Given the description of an element on the screen output the (x, y) to click on. 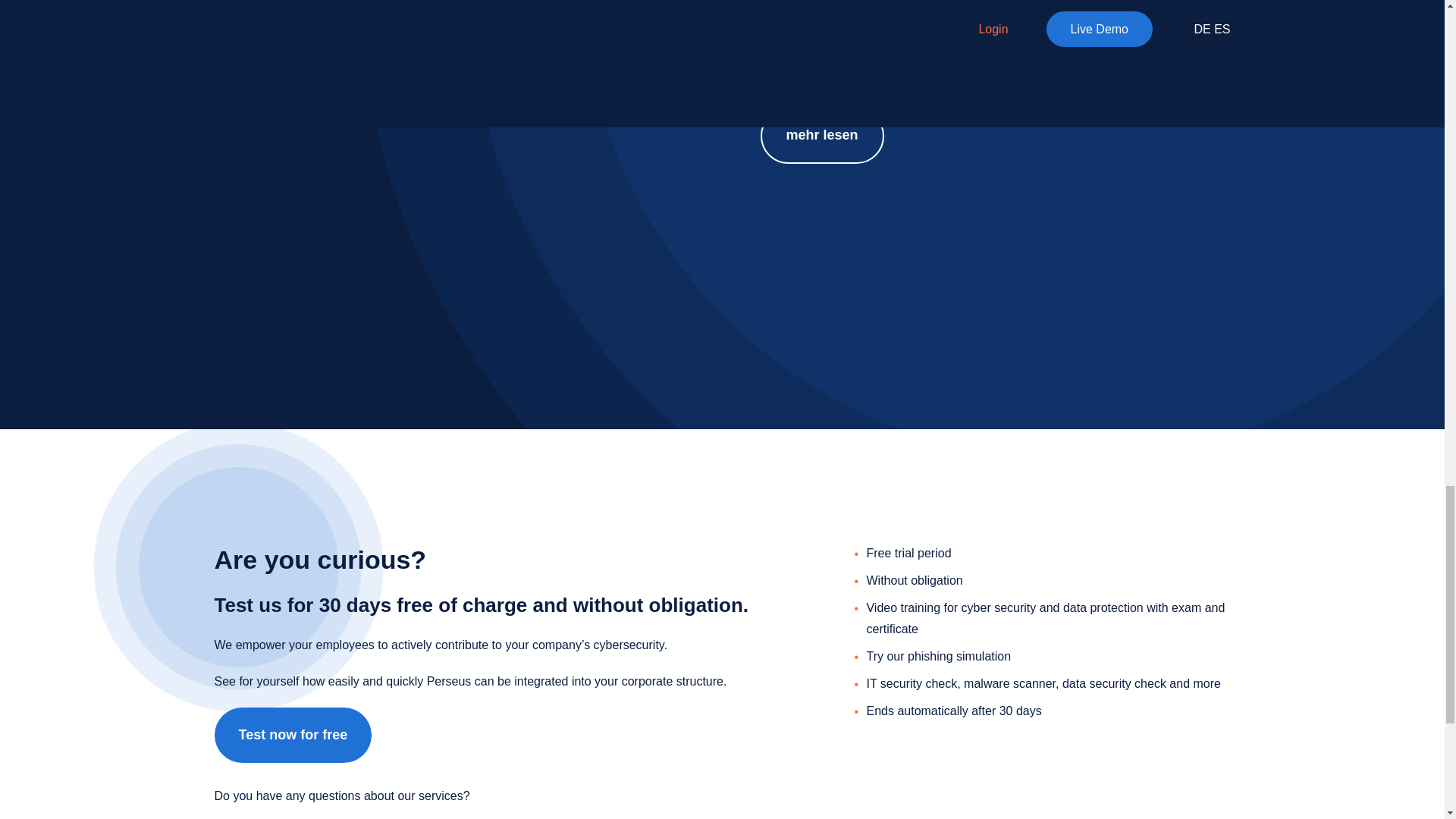
mehr lesen (821, 135)
mehr lesen (275, 93)
Test now for free (292, 734)
